Given the description of an element on the screen output the (x, y) to click on. 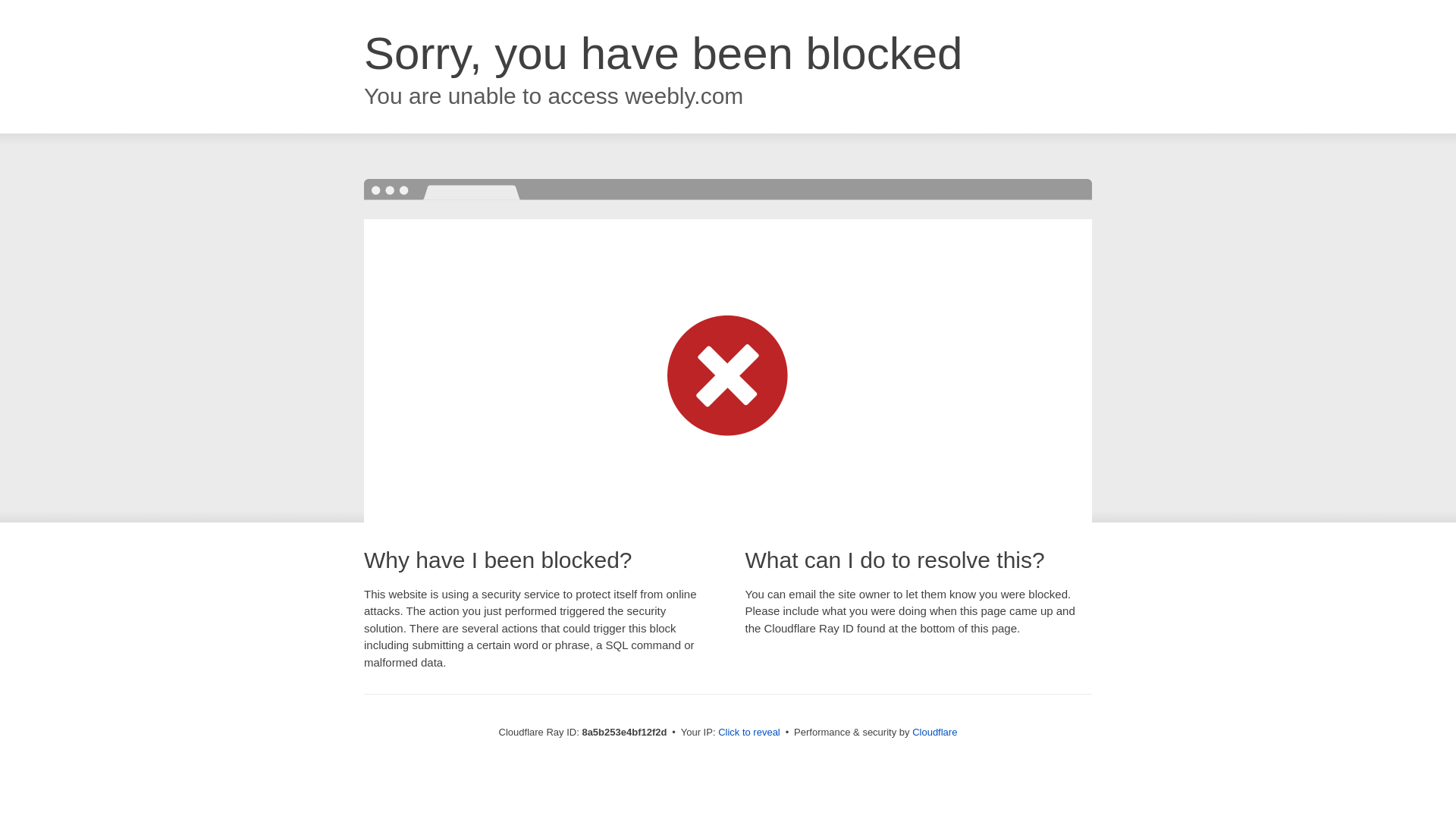
Cloudflare (934, 731)
Click to reveal (748, 732)
